Given the description of an element on the screen output the (x, y) to click on. 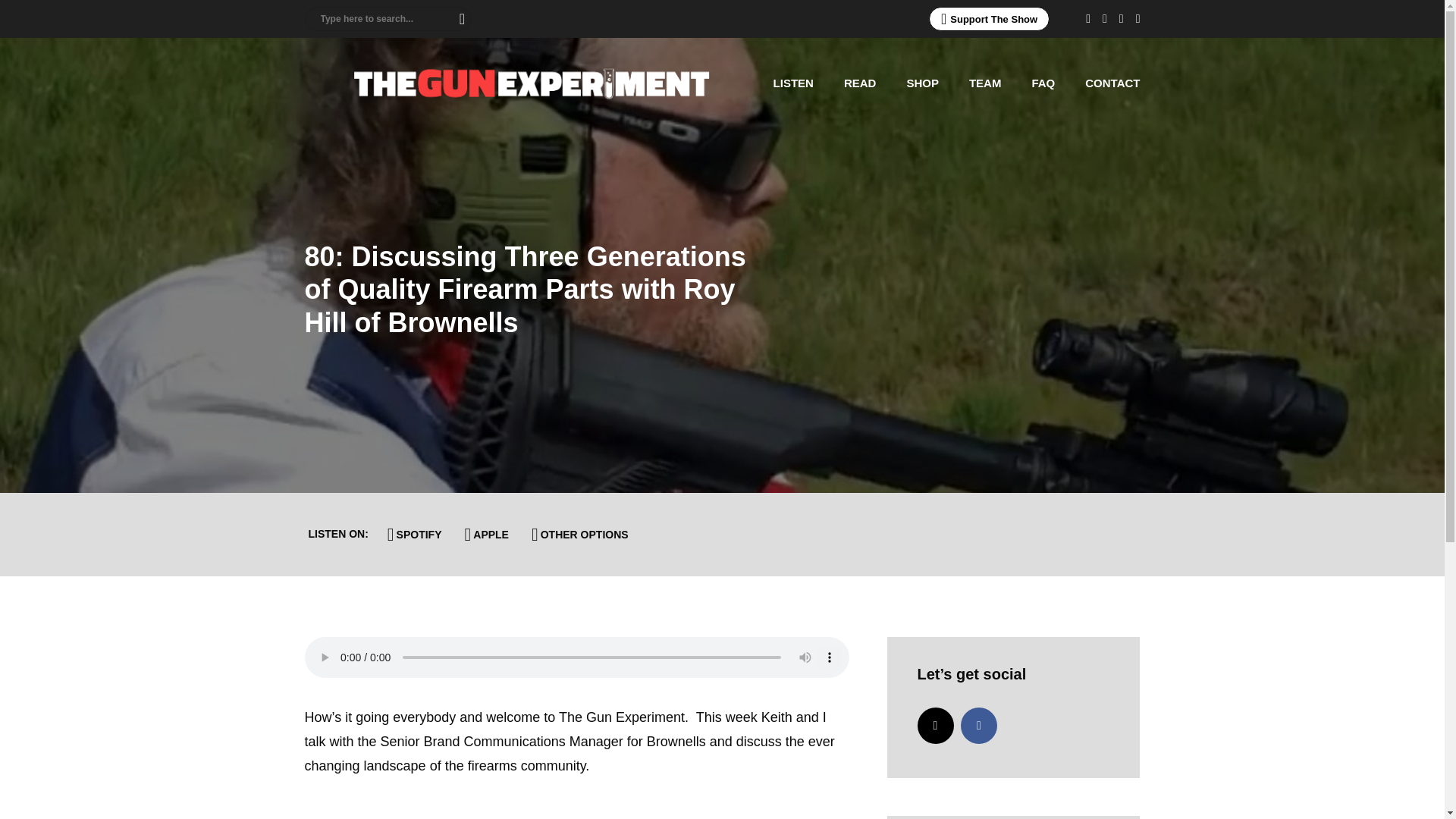
SEARCH (457, 18)
SPOTIFY (414, 534)
Support The Show (988, 18)
Instagram (935, 725)
Facebook (978, 725)
LISTEN (793, 83)
APPLE (486, 534)
CONTACT (1112, 83)
OTHER OPTIONS (580, 534)
